Given the description of an element on the screen output the (x, y) to click on. 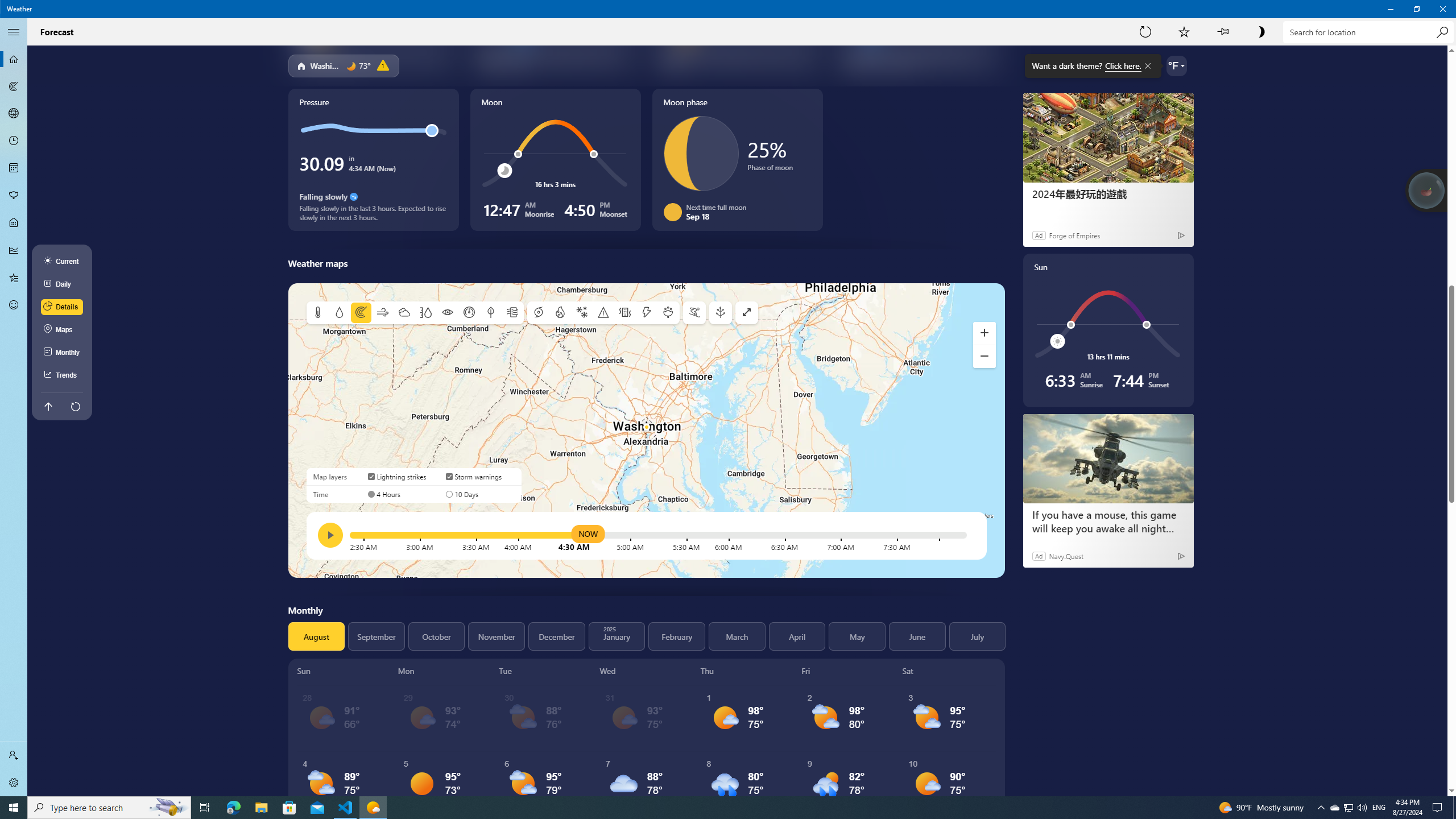
Send Feedback - Not Selected (13, 304)
Running applications (706, 807)
Hourly Forecast - Not Selected (13, 140)
Maps - Not Selected (13, 85)
Historical Weather - Not Selected (13, 249)
Search (1442, 31)
Life - Not Selected (13, 222)
Favorites - Not Selected (13, 277)
